Given the description of an element on the screen output the (x, y) to click on. 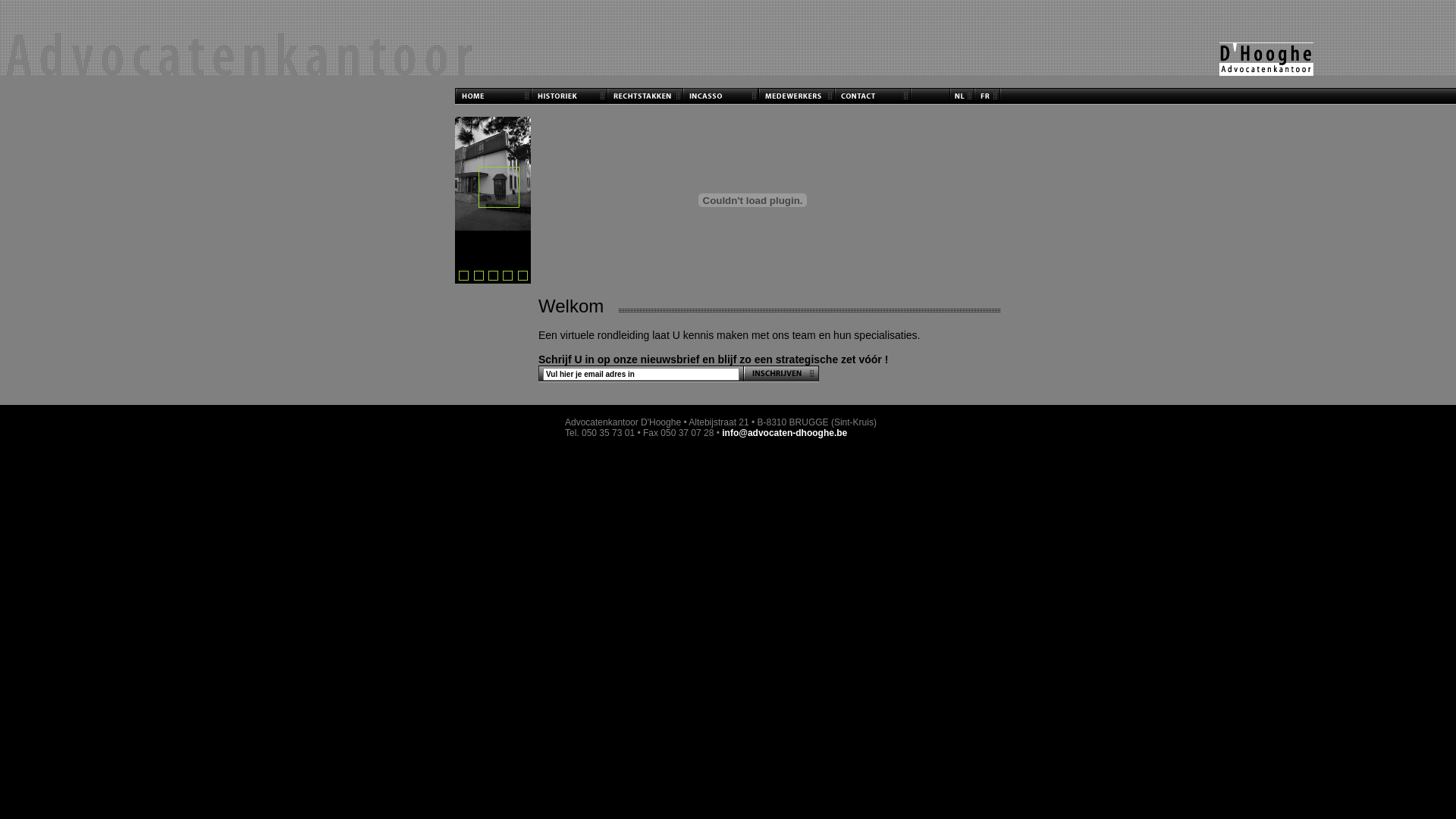
info@advocaten-dhooghe.be Element type: text (784, 432)
